Given the description of an element on the screen output the (x, y) to click on. 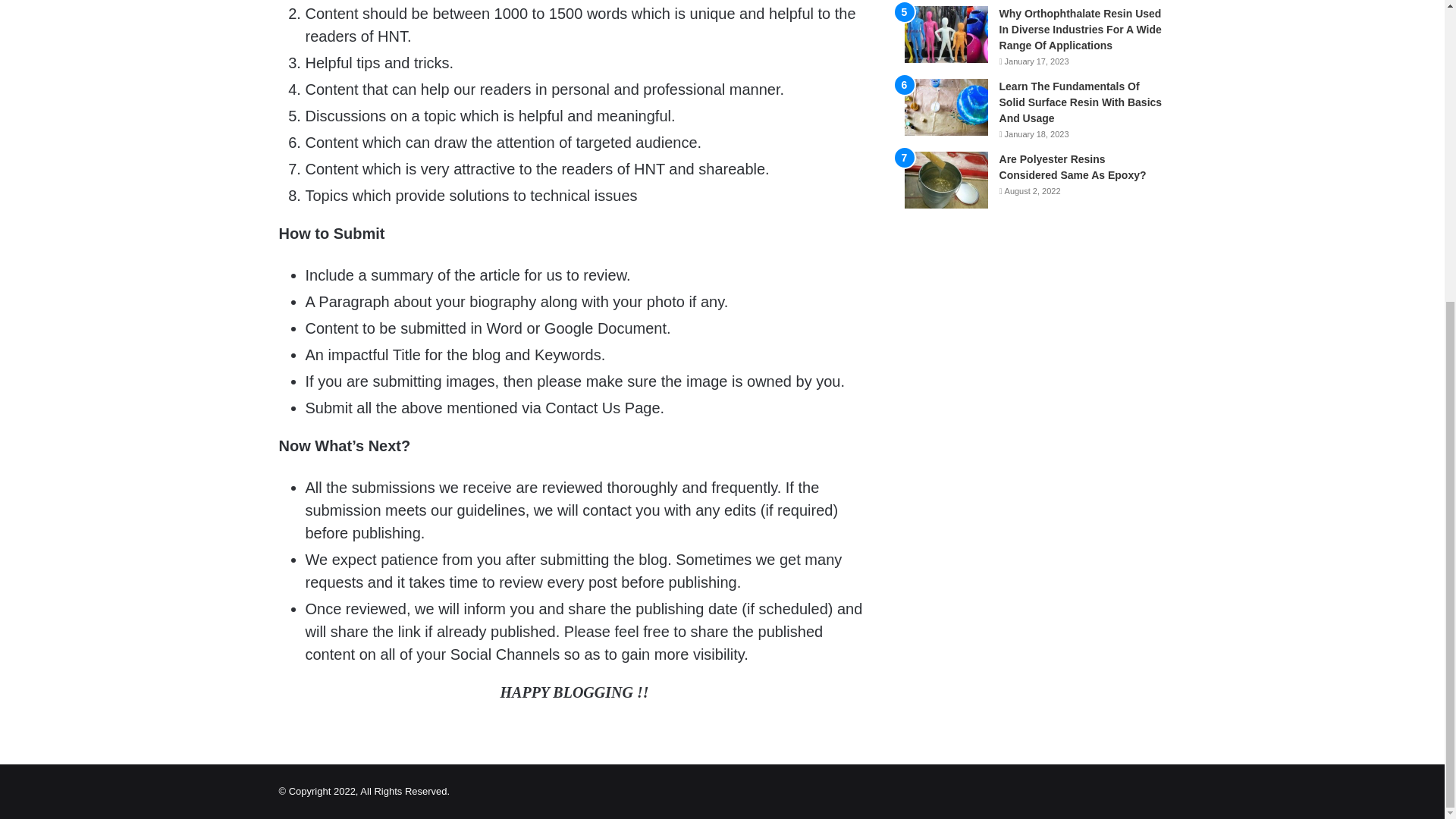
Are Polyester Resins Considered Same As Epoxy? (1072, 166)
